Given the description of an element on the screen output the (x, y) to click on. 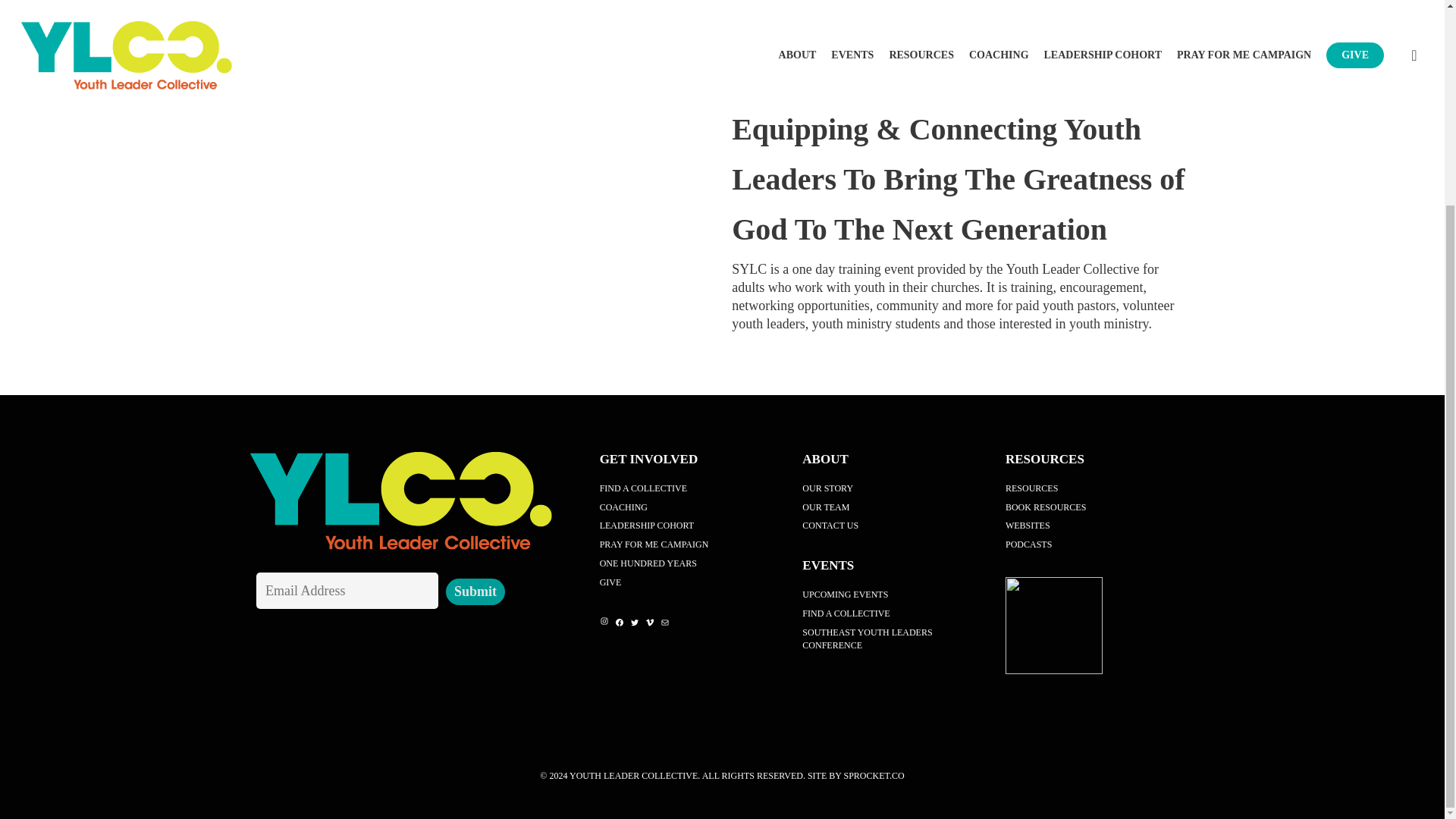
ONE HUNDRED YEARS (691, 563)
FIND A COLLECTIVE (894, 613)
LEADERSHIP COHORT (691, 525)
RESOURCES (1097, 488)
BOOK RESOURCES (1097, 507)
SOUTHEAST YOUTH LEADERS CONFERENCE (894, 638)
WEBSITES (1097, 525)
GIVE (691, 582)
CONTACT US (894, 525)
OUR TEAM (894, 507)
PODCASTS (1097, 544)
Submit (475, 591)
SYLC 2022 Highlights (480, 234)
FIND A COLLECTIVE (691, 488)
UPCOMING EVENTS (894, 594)
